Given the description of an element on the screen output the (x, y) to click on. 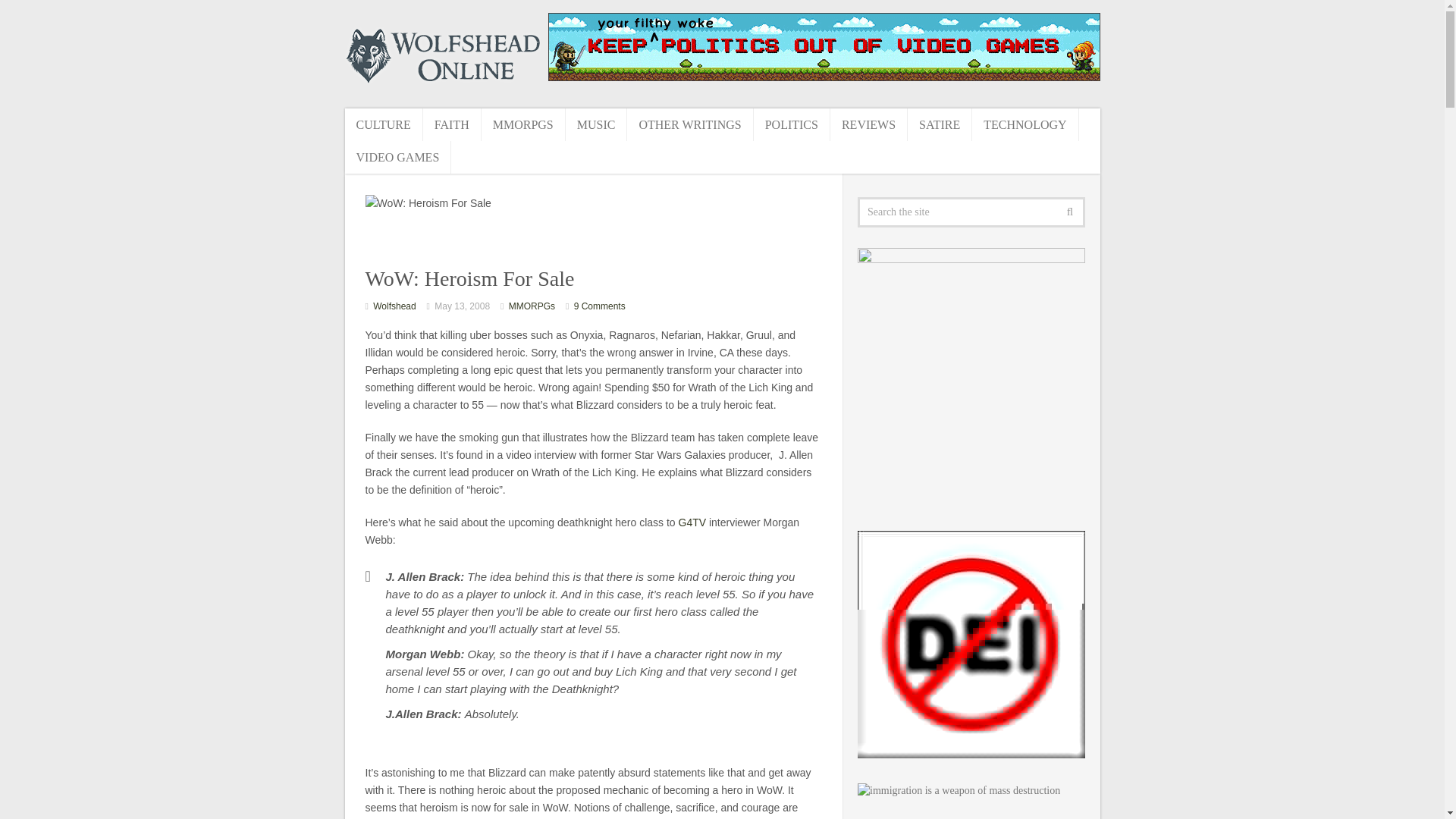
MMORPGS (523, 124)
Wolfshead (393, 306)
MUSIC (596, 124)
OTHER WRITINGS (689, 124)
View all posts in MMORPGs (531, 306)
POLITICS (791, 124)
VIDEO GAMES (397, 156)
9 Comments (599, 306)
G4TV (692, 522)
SATIRE (939, 124)
